Given the description of an element on the screen output the (x, y) to click on. 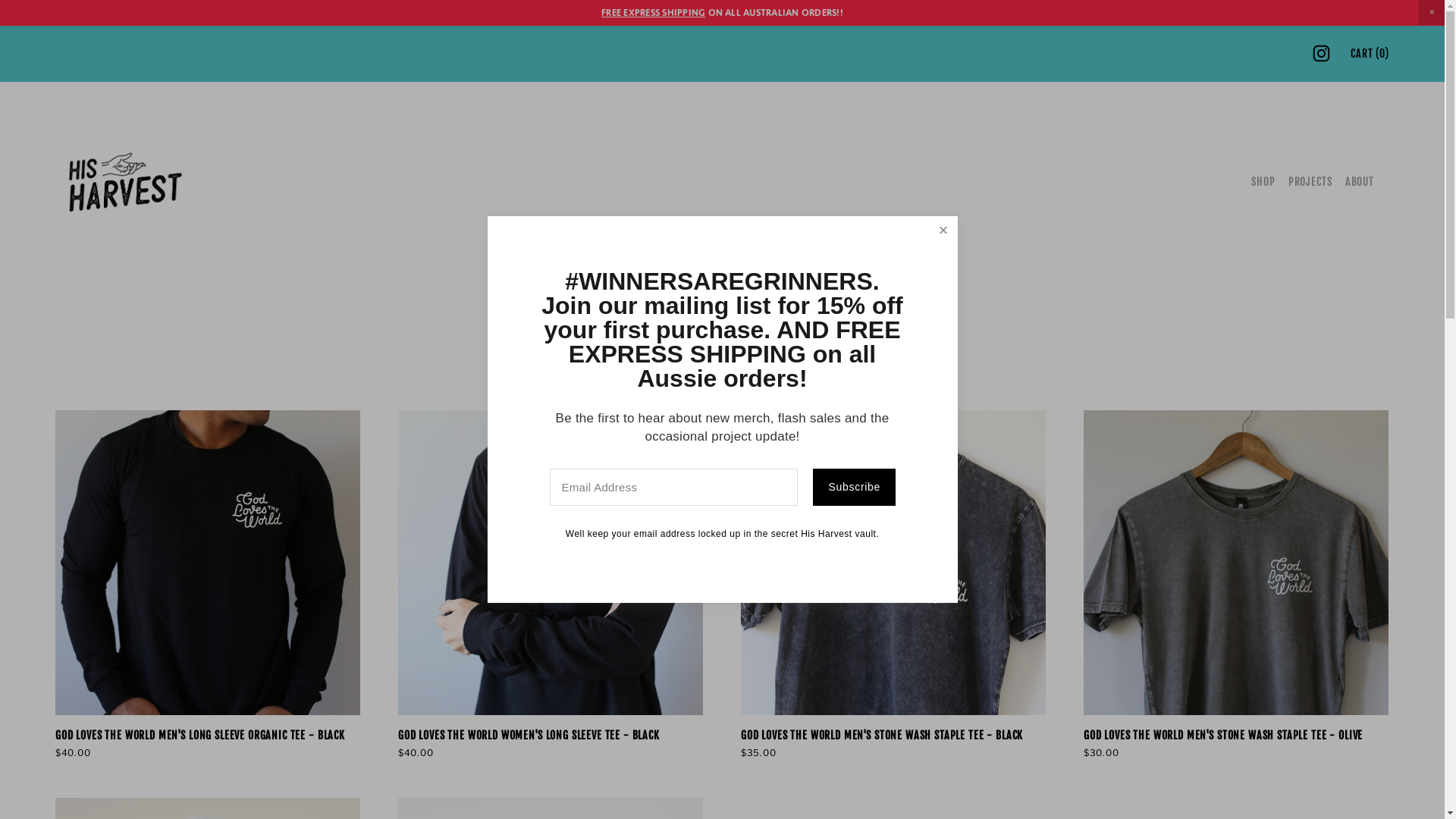
PROJECTS Element type: text (1310, 181)
HATS Element type: text (740, 382)
ALL Element type: text (700, 382)
Subscribe Element type: text (853, 487)
SHOP Element type: text (1262, 181)
CART 0 Element type: text (1369, 53)
ABOUT Element type: text (1359, 181)
